Given the description of an element on the screen output the (x, y) to click on. 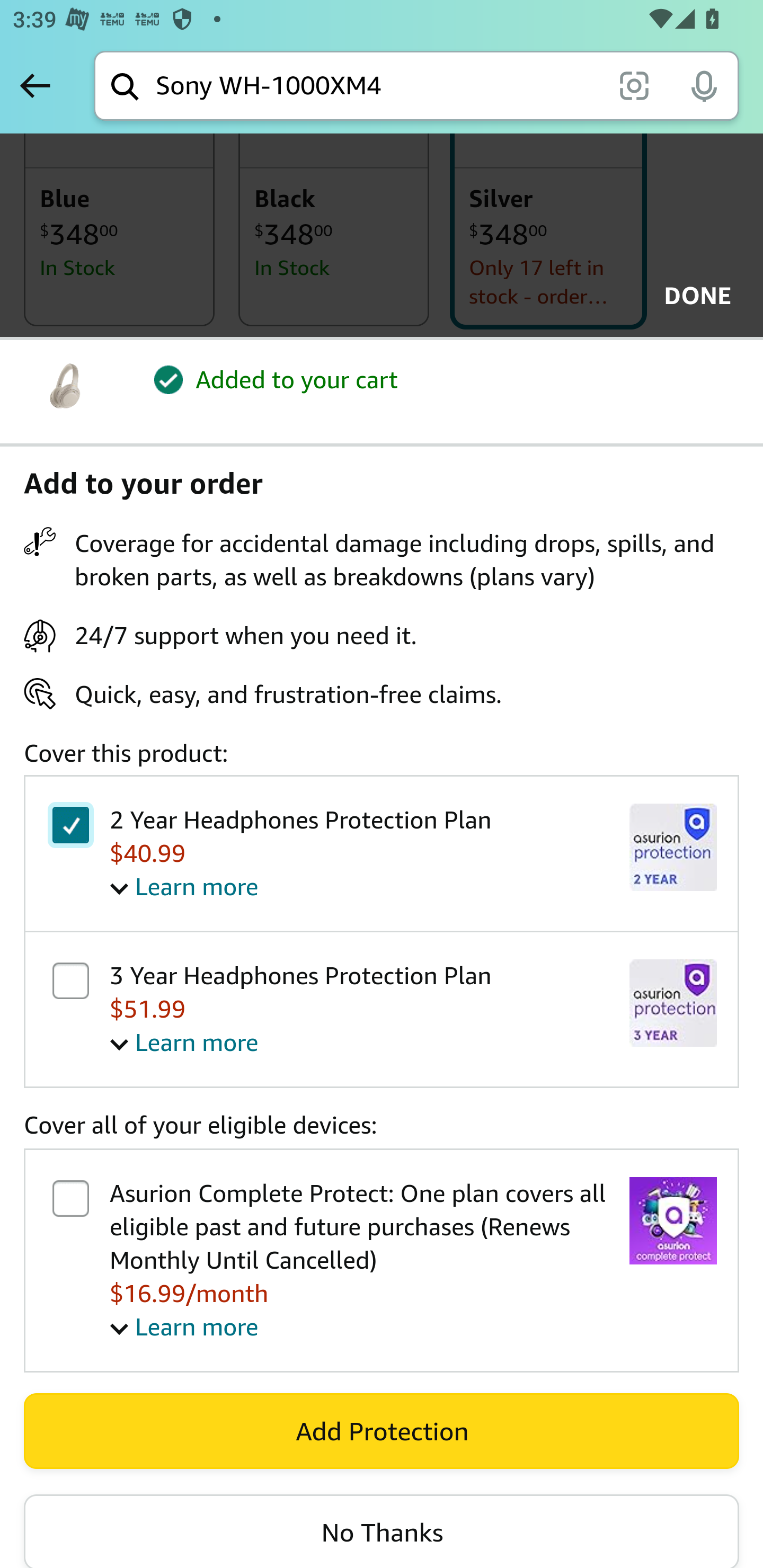
Back (35, 85)
scan it (633, 85)
DONE (691, 295)
Learn more (184, 886)
Learn more (184, 1042)
Learn more (184, 1326)
Add Protection (381, 1430)
No Thanks (381, 1531)
